Given the description of an element on the screen output the (x, y) to click on. 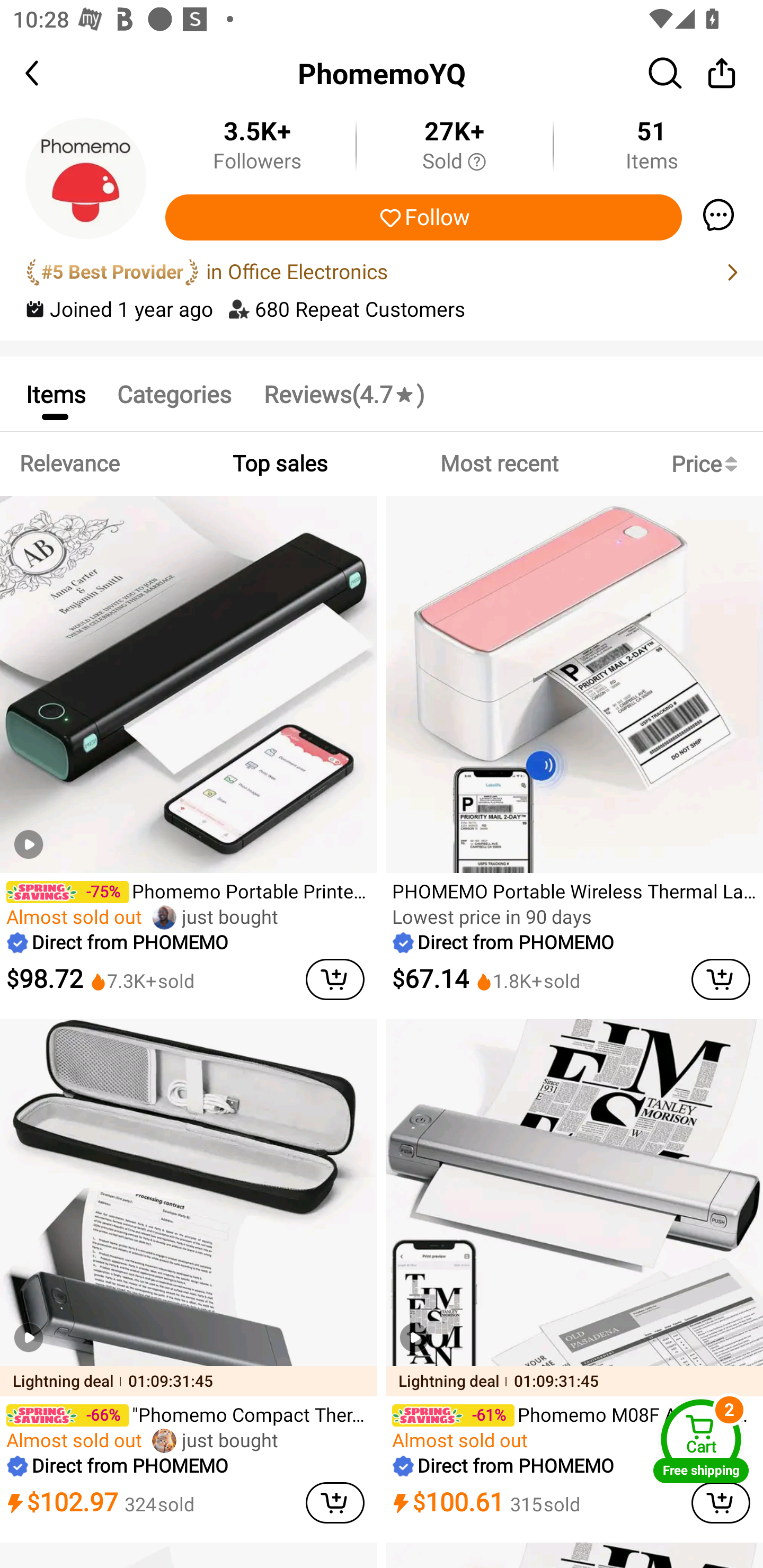
back (47, 72)
share (721, 72)
Sold (453, 161)
#5 Best Provider in Office Electronics (381, 272)
Items (55, 393)
Categories (174, 393)
Reviews(4.7 ) (343, 393)
Relevance (69, 463)
Top sales (279, 463)
Most recent (498, 463)
Price (707, 463)
cart delete (334, 979)
cart delete (720, 979)
Cart Free shipping Cart (701, 1440)
cart delete (334, 1502)
cart delete (720, 1502)
